Given the description of an element on the screen output the (x, y) to click on. 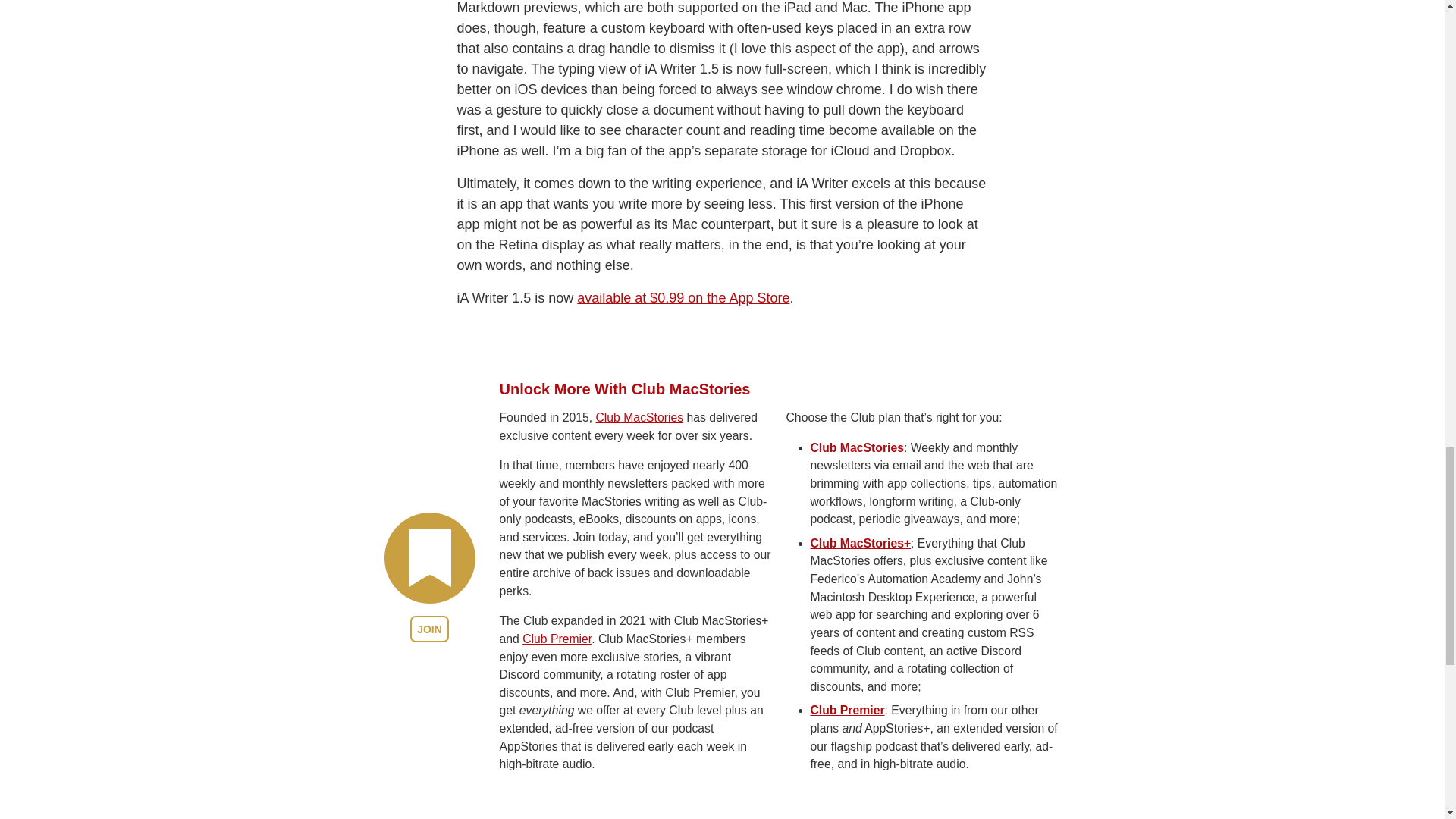
JOIN (429, 722)
Club Premier (556, 731)
Club MacStories (855, 540)
Club MacStories (638, 510)
